Given the description of an element on the screen output the (x, y) to click on. 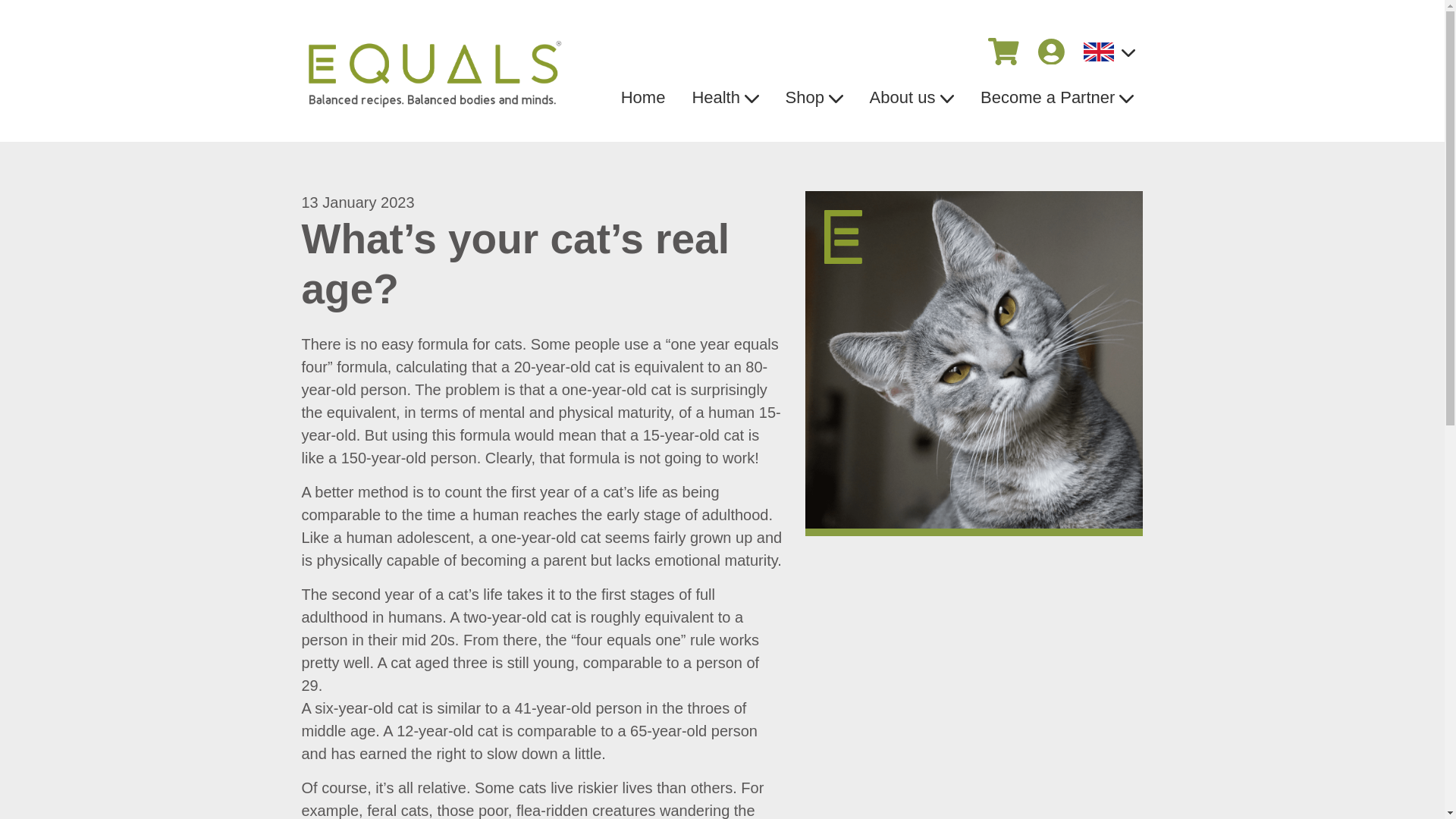
Become a Partner (1057, 96)
Health (724, 96)
Home (642, 96)
About us (911, 96)
Shop (813, 96)
